Given the description of an element on the screen output the (x, y) to click on. 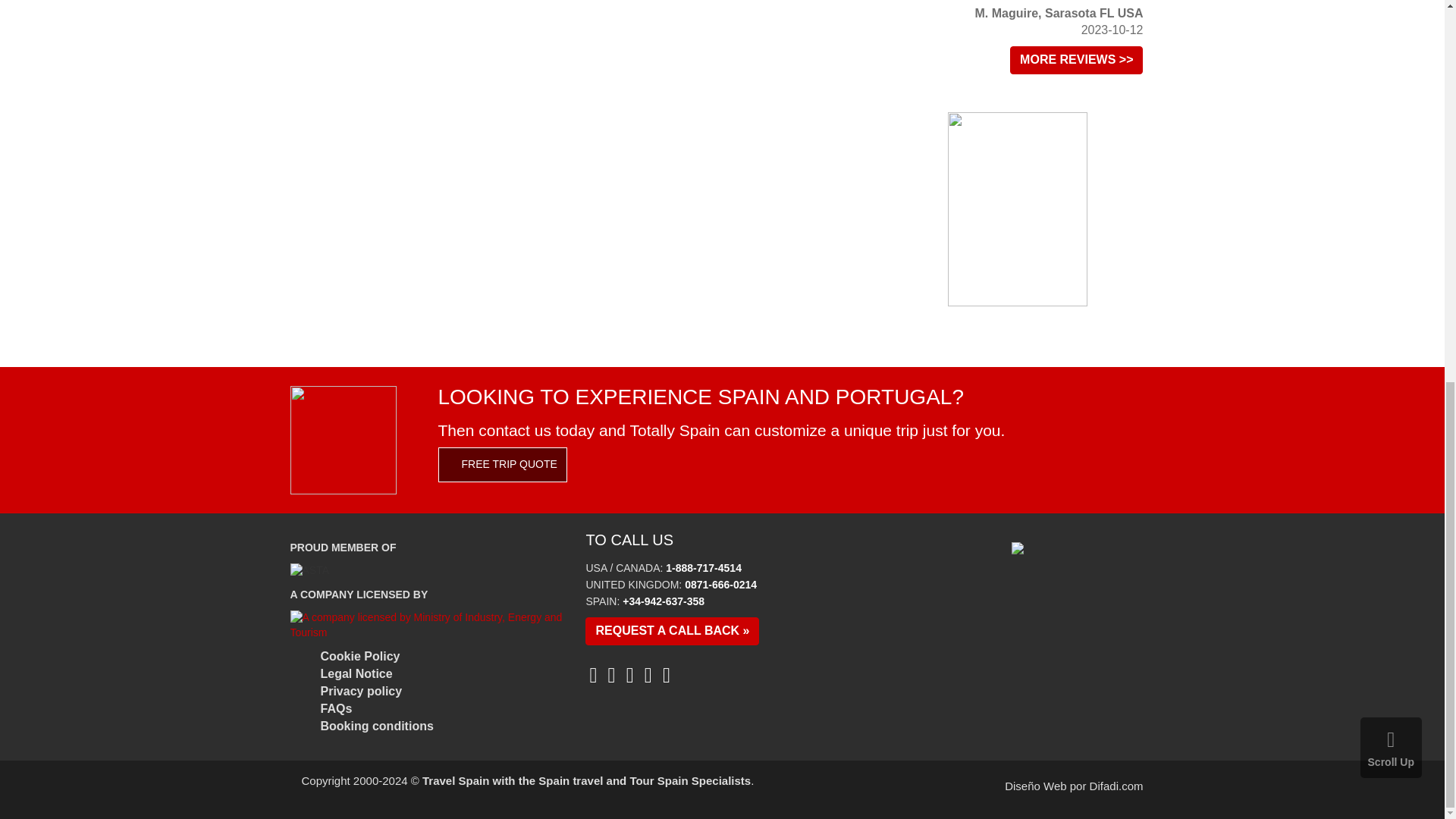
Cookie Policy (359, 656)
Legal Notice (355, 673)
FREE TRIP QUOTE (502, 464)
Privacy policy (360, 690)
ASTA (309, 570)
Scroll Up (1390, 33)
